Given the description of an element on the screen output the (x, y) to click on. 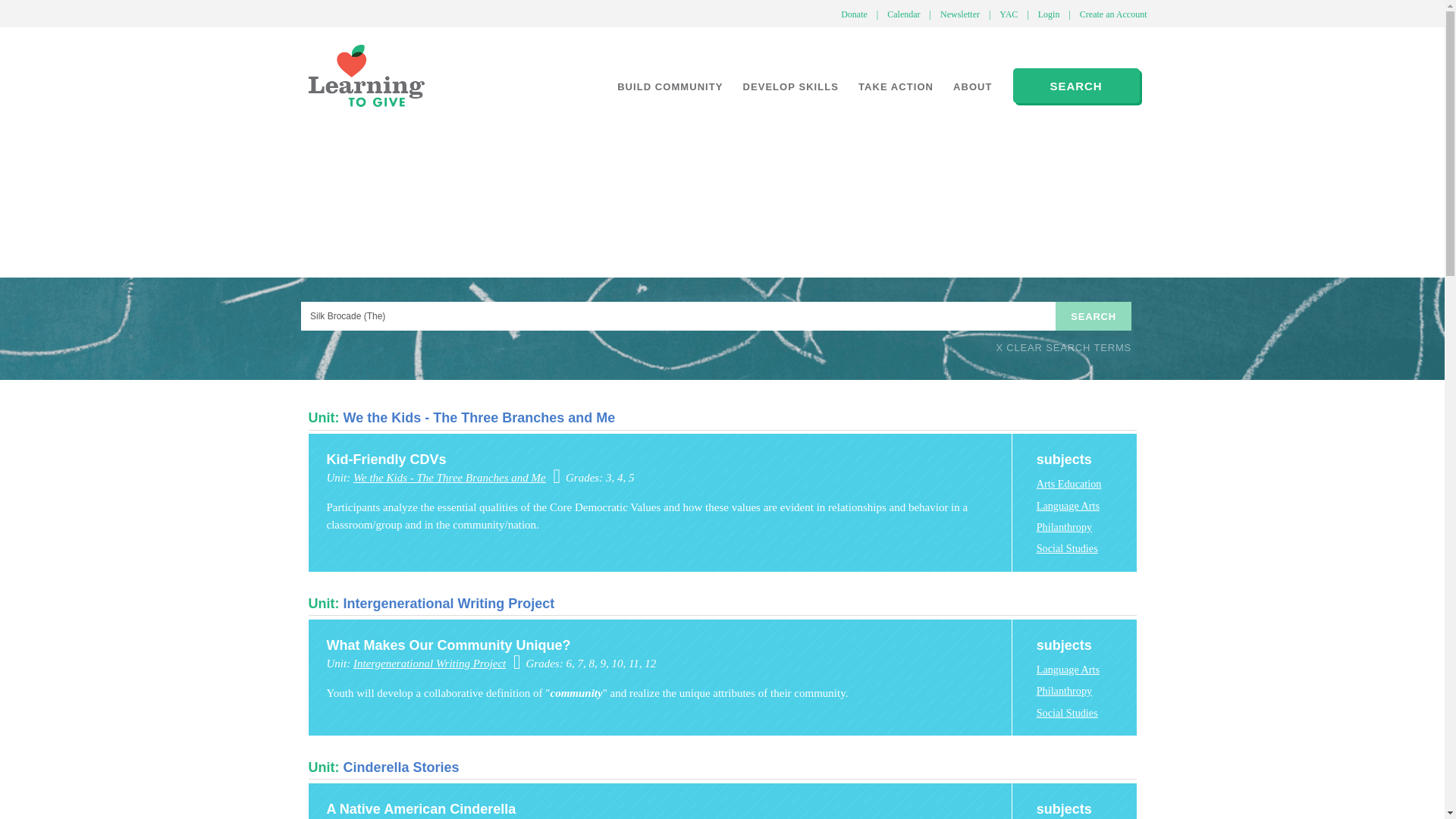
BUILD COMMUNITY (669, 86)
Submit (106, 237)
Submit (97, 285)
Submit (83, 285)
TAKE ACTION (895, 86)
Submit (73, 237)
We the Kids - The Three Branches and Me (478, 417)
ABOUT (973, 86)
YAC (1008, 14)
Login (1048, 14)
Create an Account (1113, 14)
Search (1093, 316)
X Clear Search Terms (1063, 347)
Click on "About" to learn more about Learning to Give (973, 86)
Activities to identify interests and community needs (669, 86)
